Given the description of an element on the screen output the (x, y) to click on. 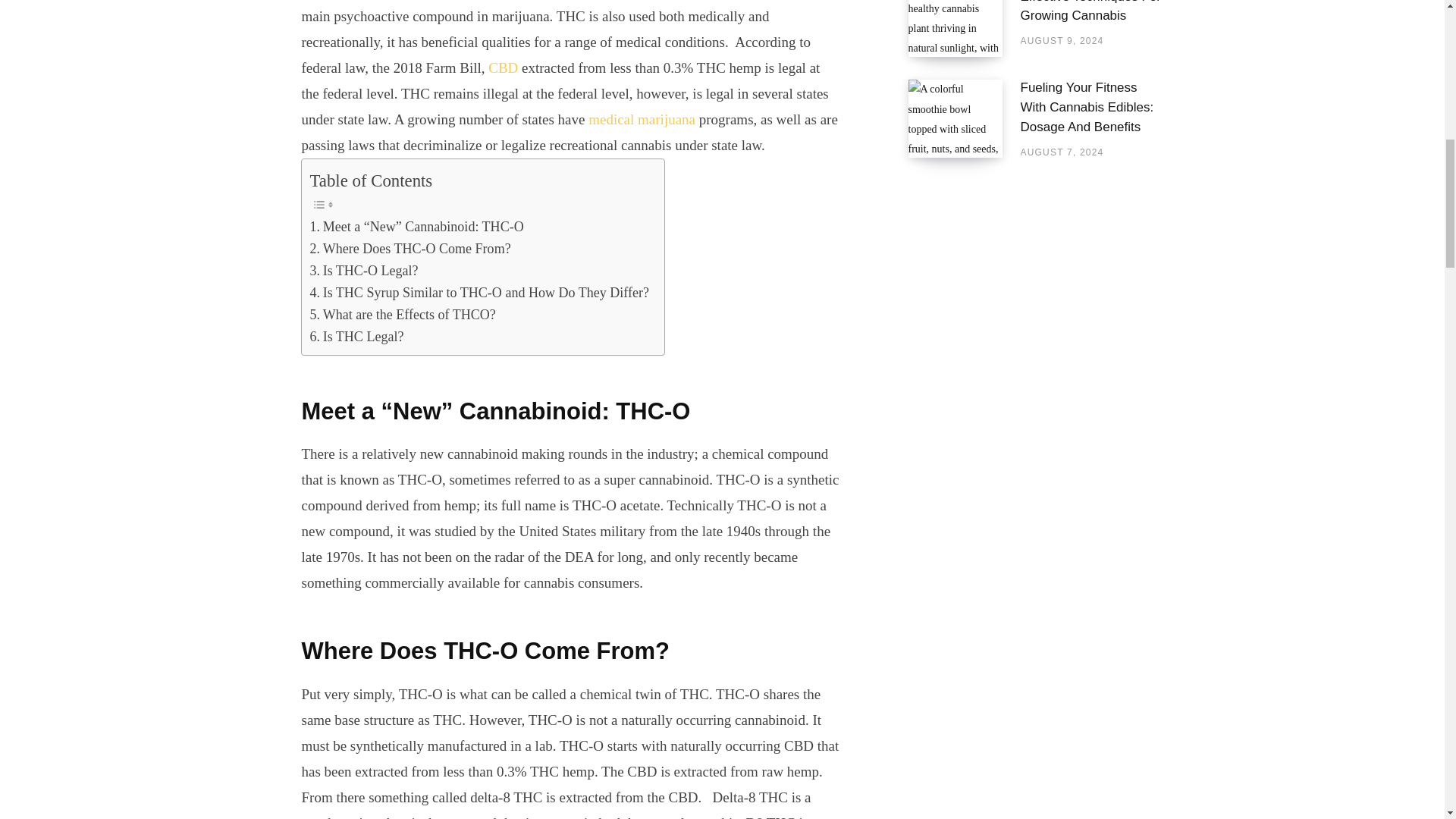
What are the Effects of THCO? (401, 314)
medical marijuana (641, 119)
CBD (502, 67)
Is THC Syrup Similar to THC-O and How Do They Differ? (478, 292)
